Given the description of an element on the screen output the (x, y) to click on. 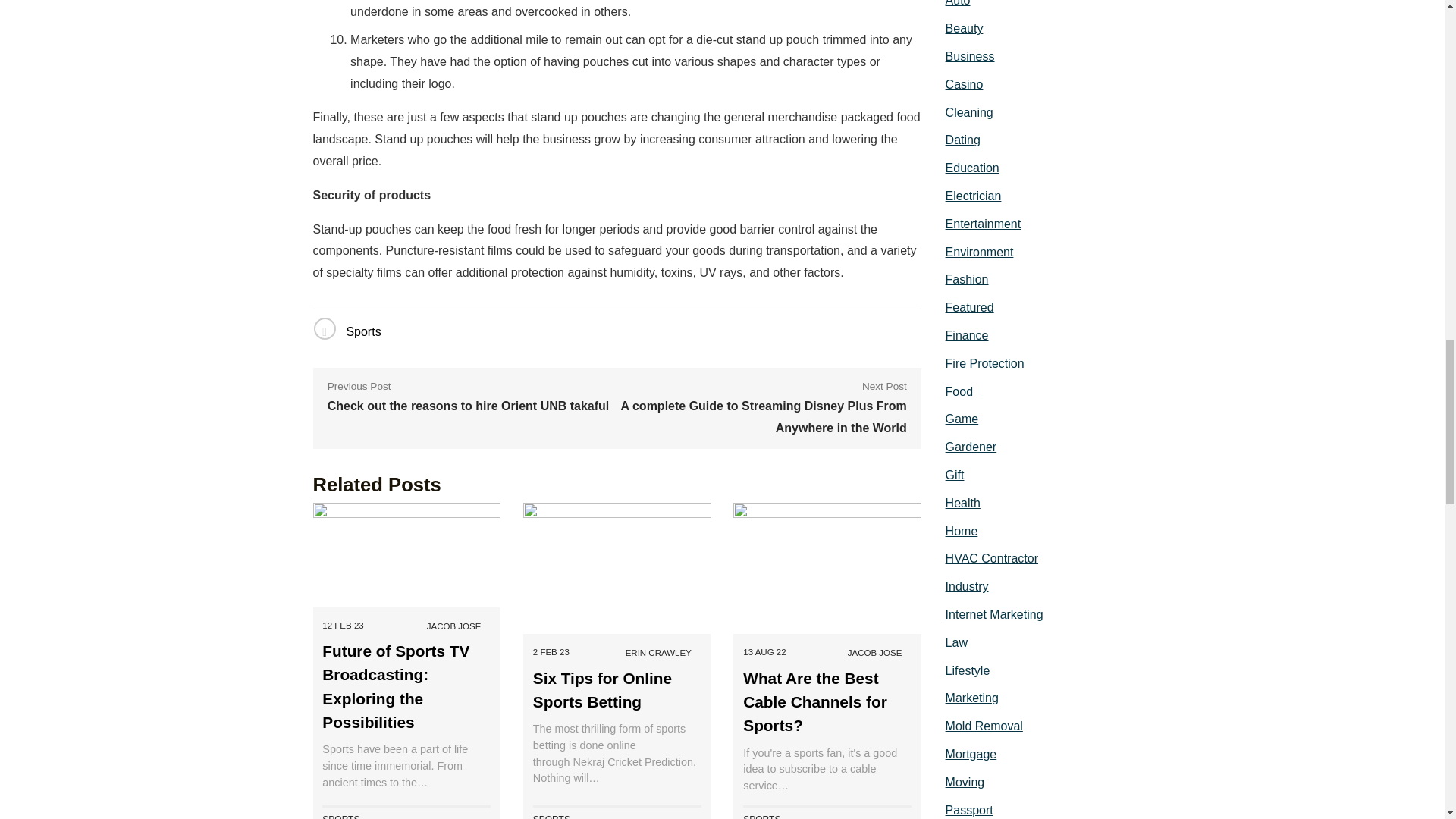
JACOB JOSE (453, 625)
Sports (363, 331)
12 FEB 23 (341, 625)
Check out the reasons to hire Orient UNB takaful (468, 406)
